Given the description of an element on the screen output the (x, y) to click on. 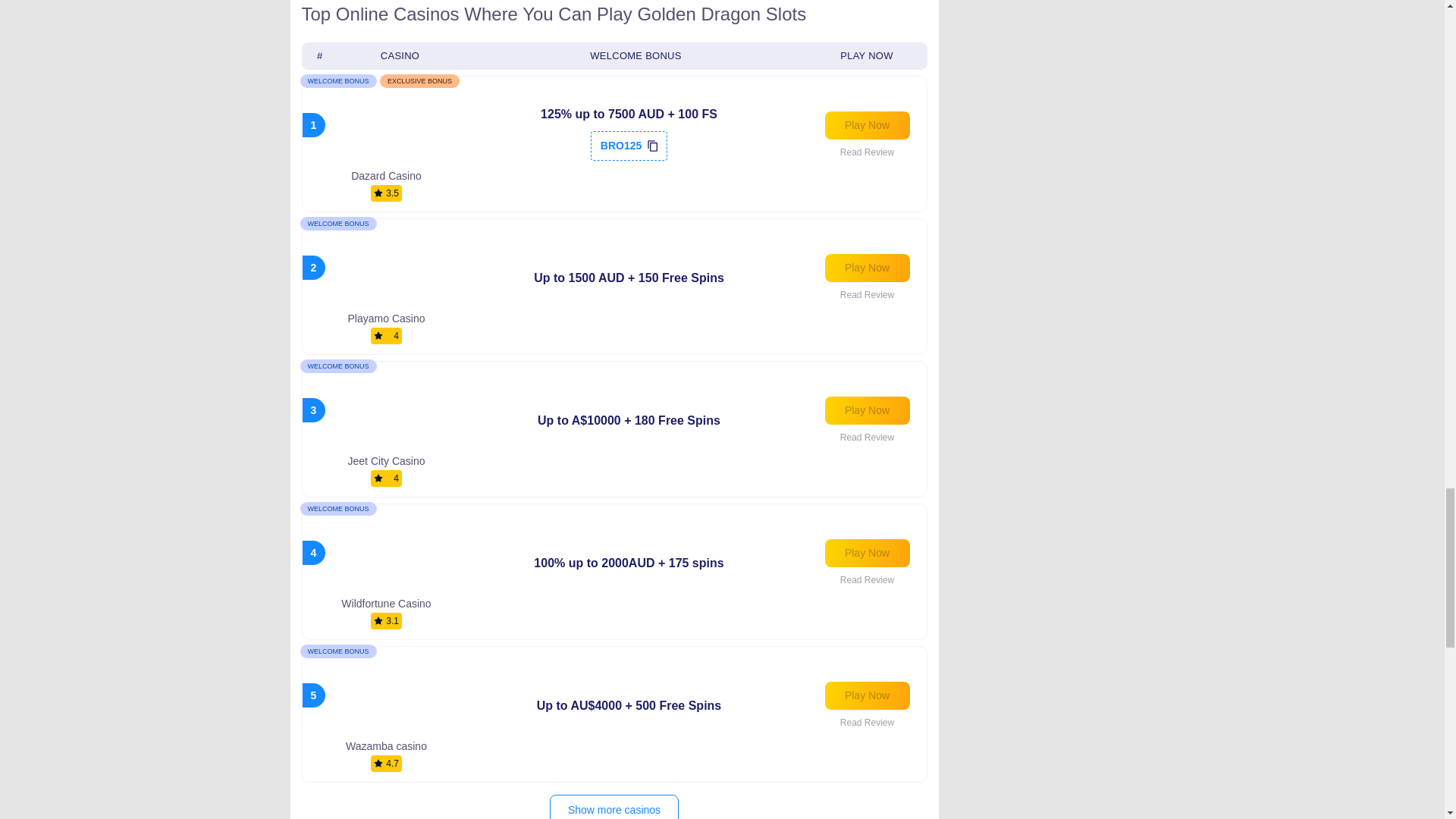
Play at Wildfortune Casino (867, 552)
Play at Wazamba casino (867, 695)
Play at Jeet City Casino (867, 410)
Play at Playamo Casino (867, 267)
Play at Dazard Casino (867, 125)
